Given the description of an element on the screen output the (x, y) to click on. 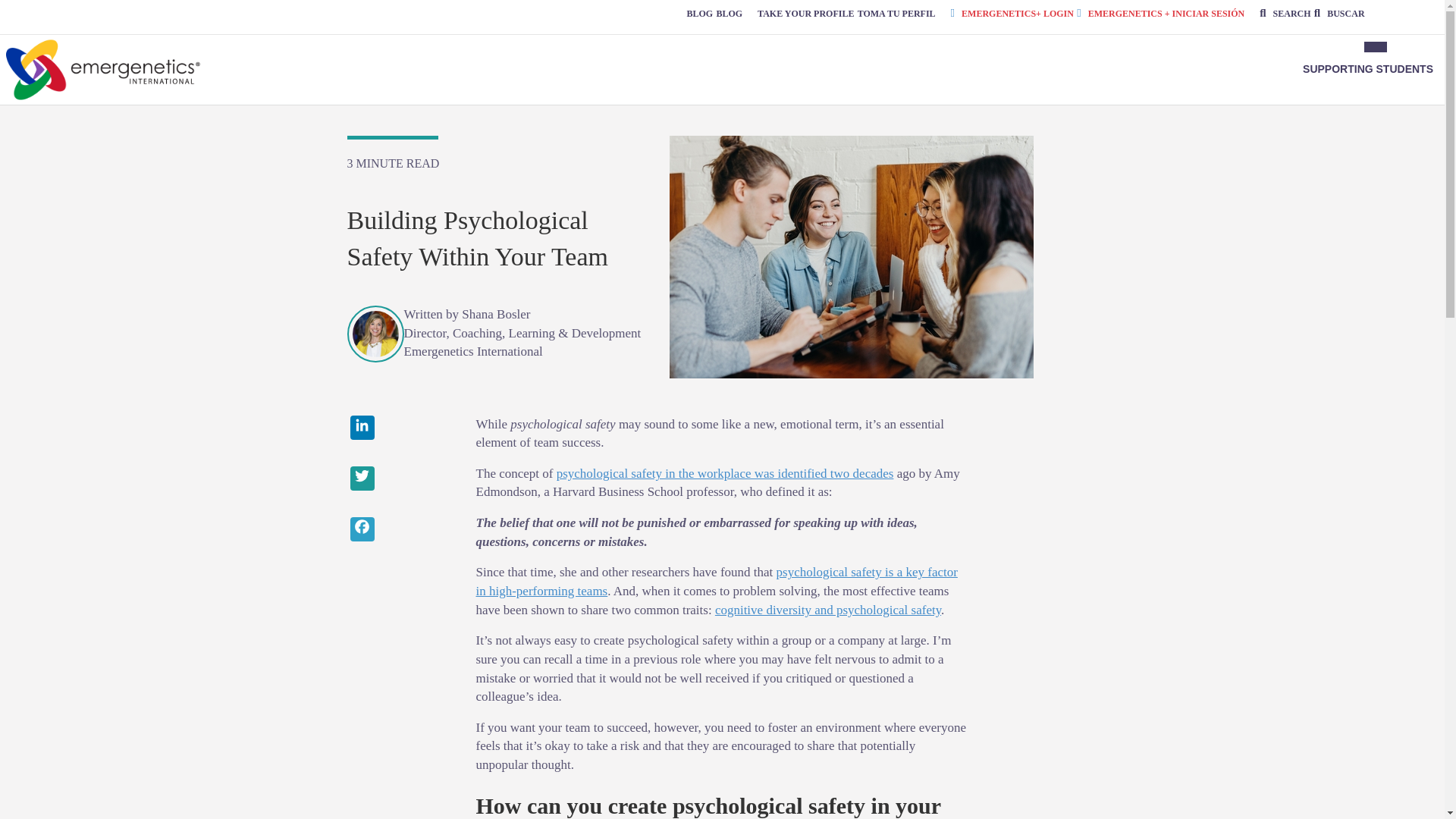
BLOG (729, 13)
BUSCAR (1339, 13)
TAKE YOUR PROFILE (805, 13)
Facebook (399, 530)
LinkedIn (399, 429)
BLOG (699, 13)
SEARCH (1284, 13)
Twitter (399, 480)
TOMA TU PERFIL (896, 13)
